Given the description of an element on the screen output the (x, y) to click on. 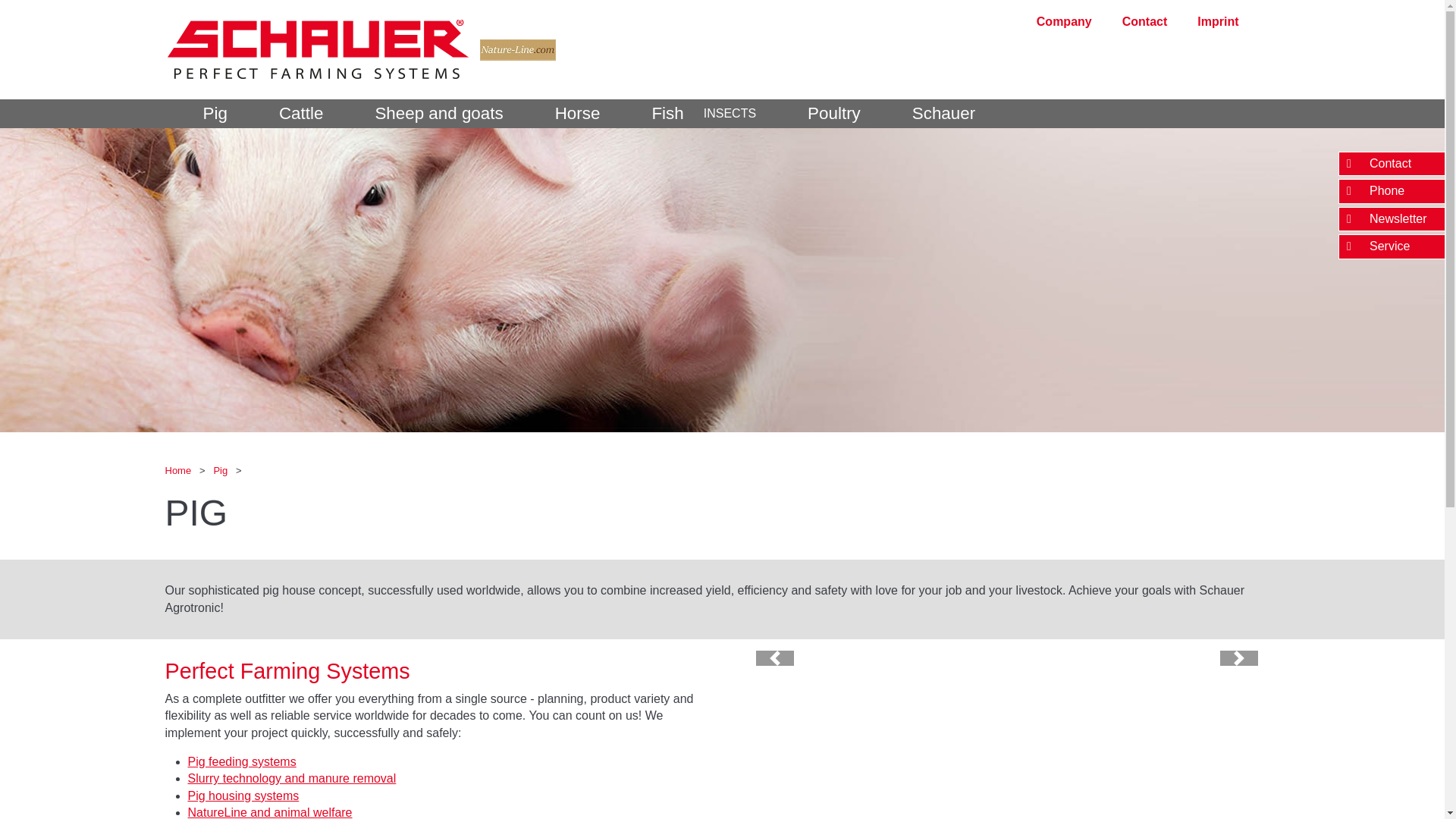
Pig (198, 113)
Imprint (1217, 21)
Natureline (512, 48)
Pig (221, 470)
Imprint (1217, 21)
Company (1064, 21)
Company (1064, 21)
Home Startseite (318, 48)
Home (179, 470)
Contact (1144, 21)
